Given the description of an element on the screen output the (x, y) to click on. 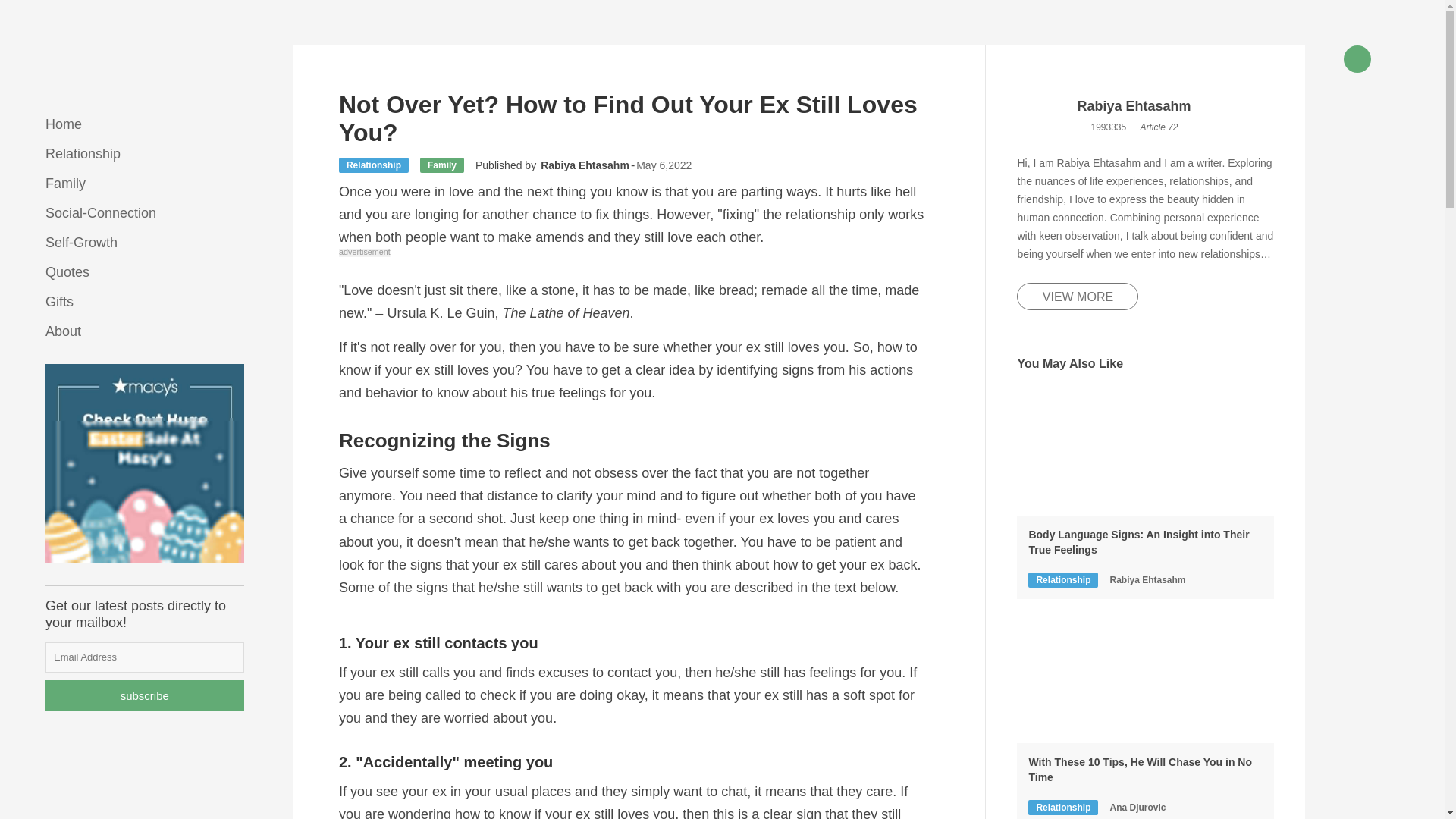
Rabiya Ehtasahm (1134, 107)
Social-Connection (100, 212)
Relationship (374, 165)
Quotes (66, 272)
Self-Growth (81, 242)
VIEW MORE (1077, 296)
Body Language Signs: An Insight into Their True Feelings (1144, 542)
Home (63, 124)
subscribe (144, 695)
Relationship (82, 153)
Gifts (59, 301)
Family (442, 165)
About (63, 331)
Relationship (1062, 580)
Rabiya Ehtasahm (584, 164)
